Given the description of an element on the screen output the (x, y) to click on. 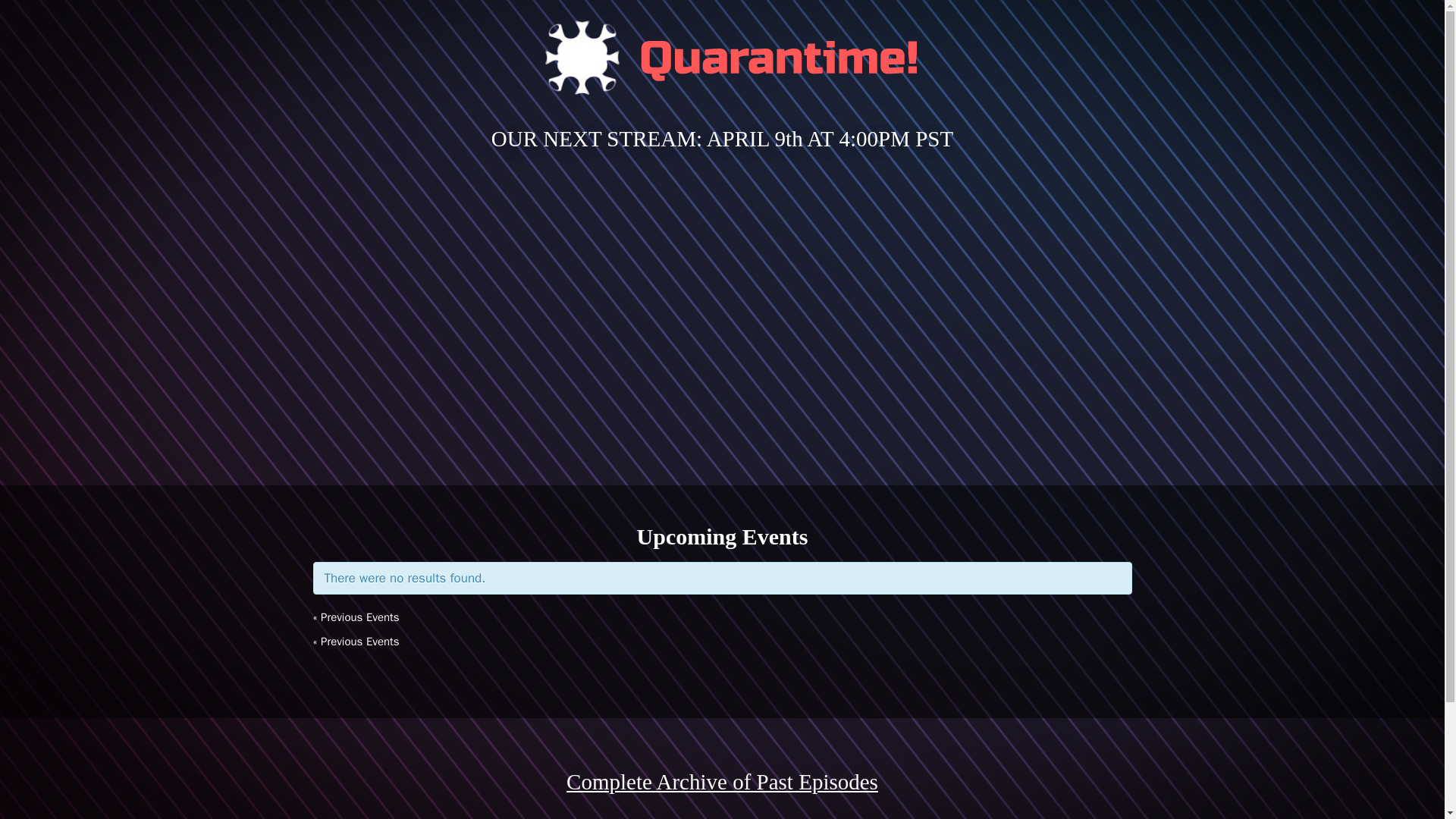
Complete Archive of Past Episodes (721, 781)
